Given the description of an element on the screen output the (x, y) to click on. 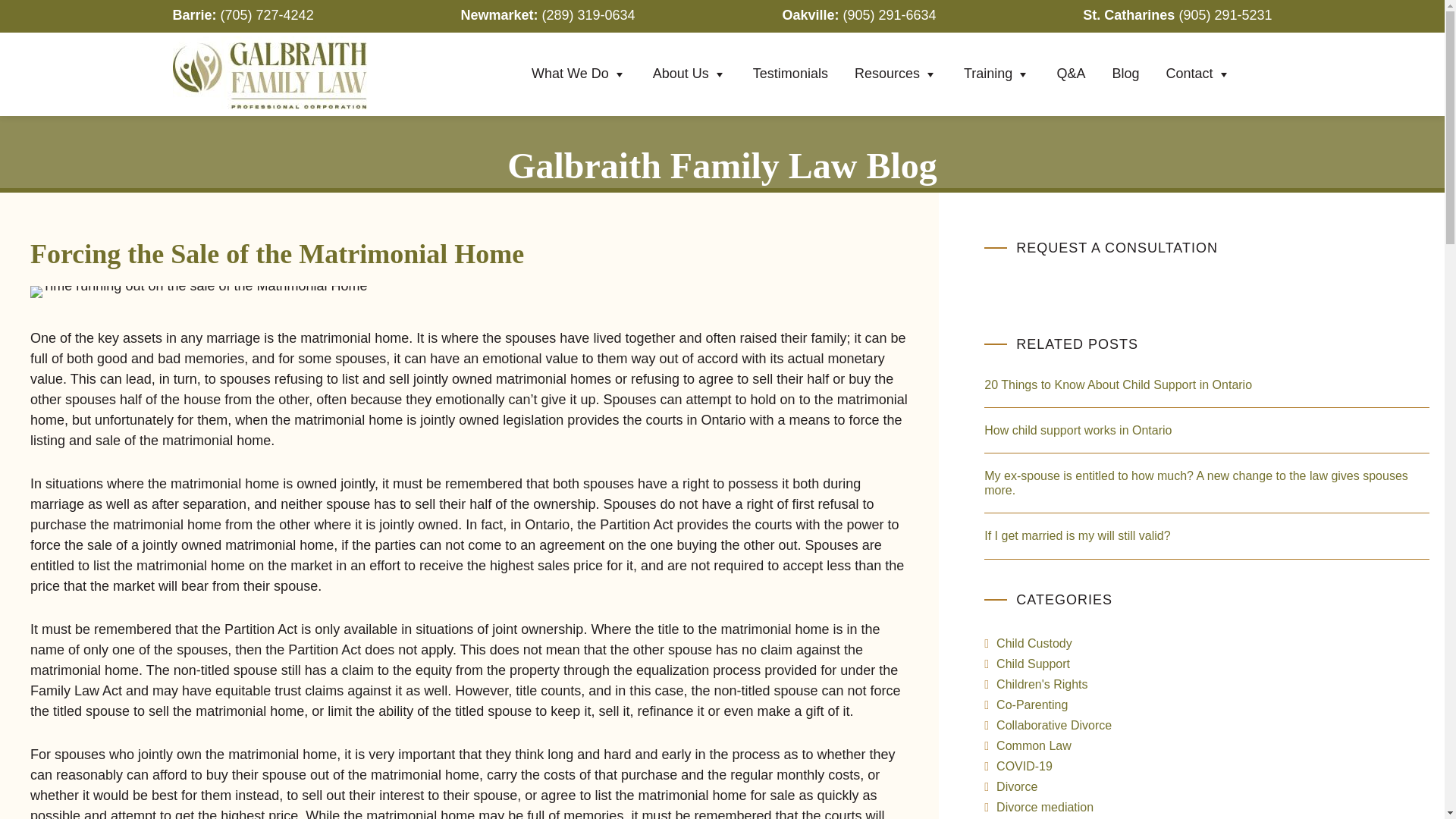
About Us (690, 73)
20 Things to Know About Child Support in Ontario (1118, 384)
Resources (896, 73)
What We Do (578, 73)
If I get married is my will still valid? (1077, 535)
How child support works in Ontario (1078, 430)
Forcing-the-Sale-of-the-Matrimonial-Home (199, 291)
Testimonials (790, 73)
